Given the description of an element on the screen output the (x, y) to click on. 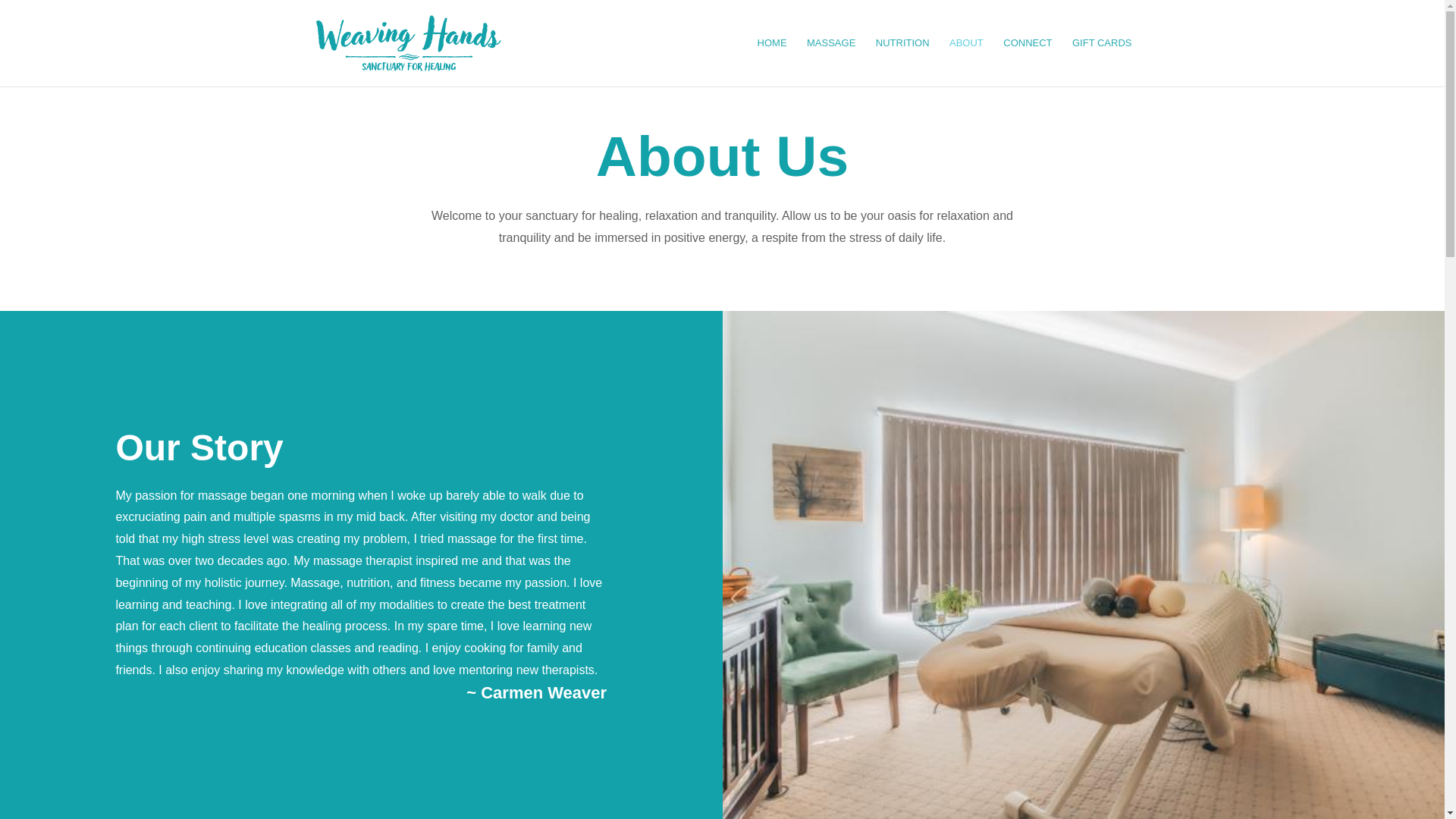
NUTRITION (903, 61)
MASSAGE (831, 61)
CONNECT (1027, 61)
GIFT CARDS (1101, 61)
